Given the description of an element on the screen output the (x, y) to click on. 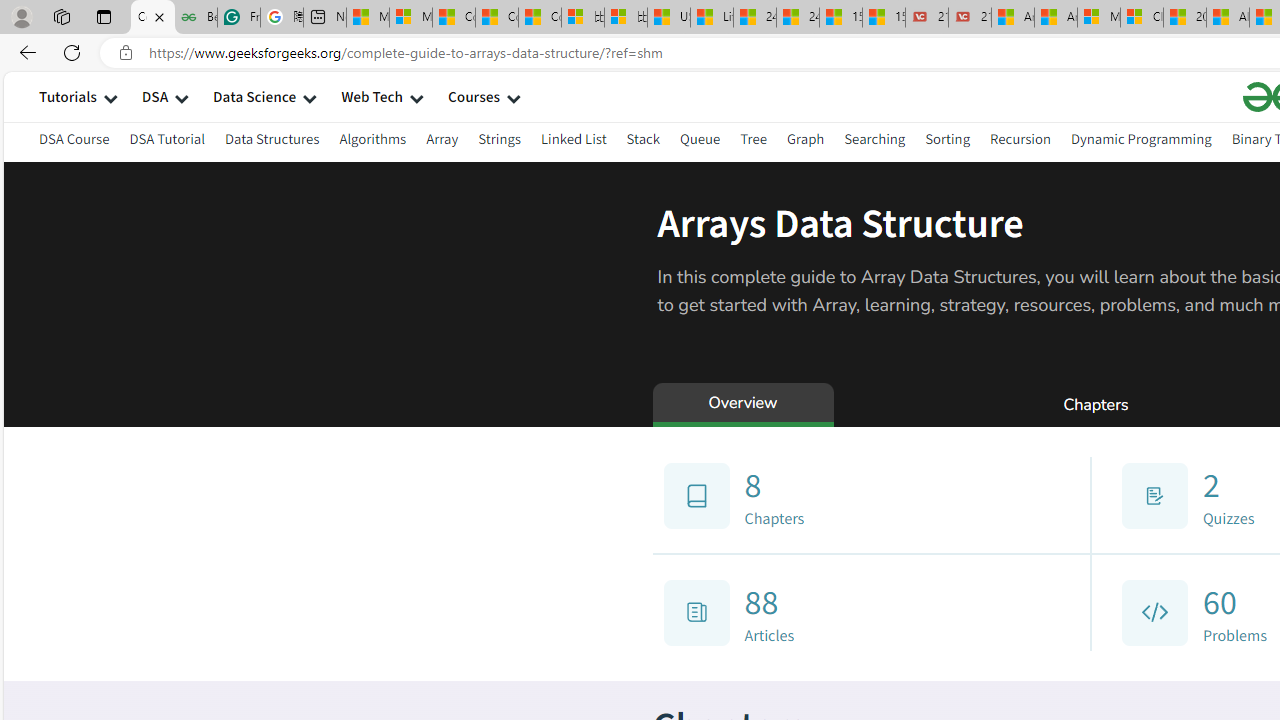
Cloud Computing Services | Microsoft Azure (1142, 17)
Queue (699, 142)
USA TODAY - MSN (668, 17)
DSA Course (74, 142)
Dynamic Programming (1140, 138)
Lifestyle - MSN (712, 17)
Stack (642, 142)
Tree (752, 138)
Array (442, 138)
